Given the description of an element on the screen output the (x, y) to click on. 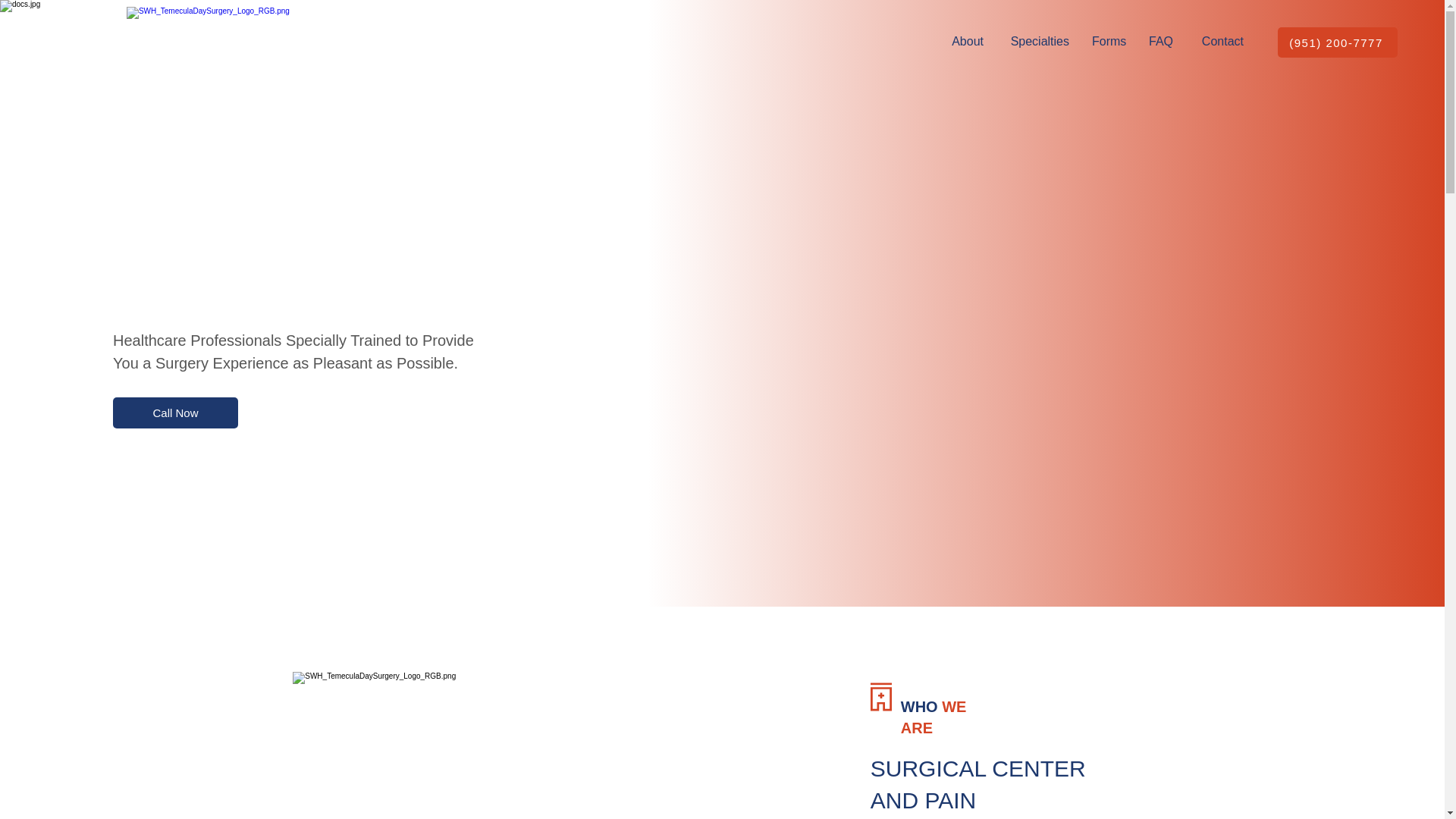
Contact (1220, 41)
About (965, 41)
Call Now (175, 412)
Specialties (1037, 41)
FAQ (1161, 41)
Forms (1108, 41)
